Given the description of an element on the screen output the (x, y) to click on. 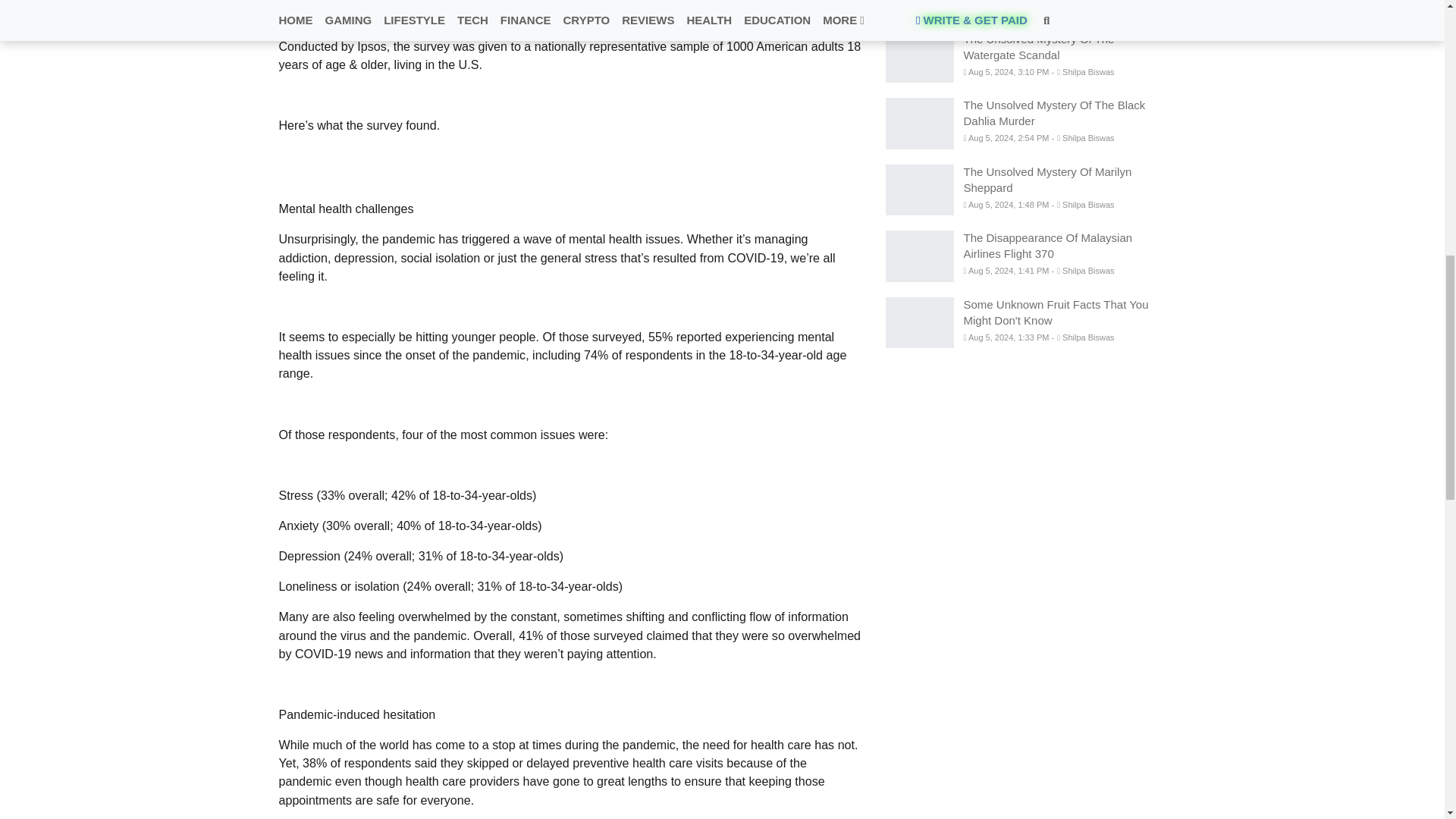
The Unsolved Mystery Of Marilyn Sheppard (919, 190)
The Unsolved Mystery Of The Black Dahlia Murder (919, 123)
The Disappearance Of Malaysian Airlines Flight 370 (919, 255)
The Unsolved Mystery Of The Watergate Scandal (919, 57)
Bill broadcast and priyanka gandhi etc (919, 8)
Some Unknown Fruit Facts That You Might Don't Know (919, 322)
